Given the description of an element on the screen output the (x, y) to click on. 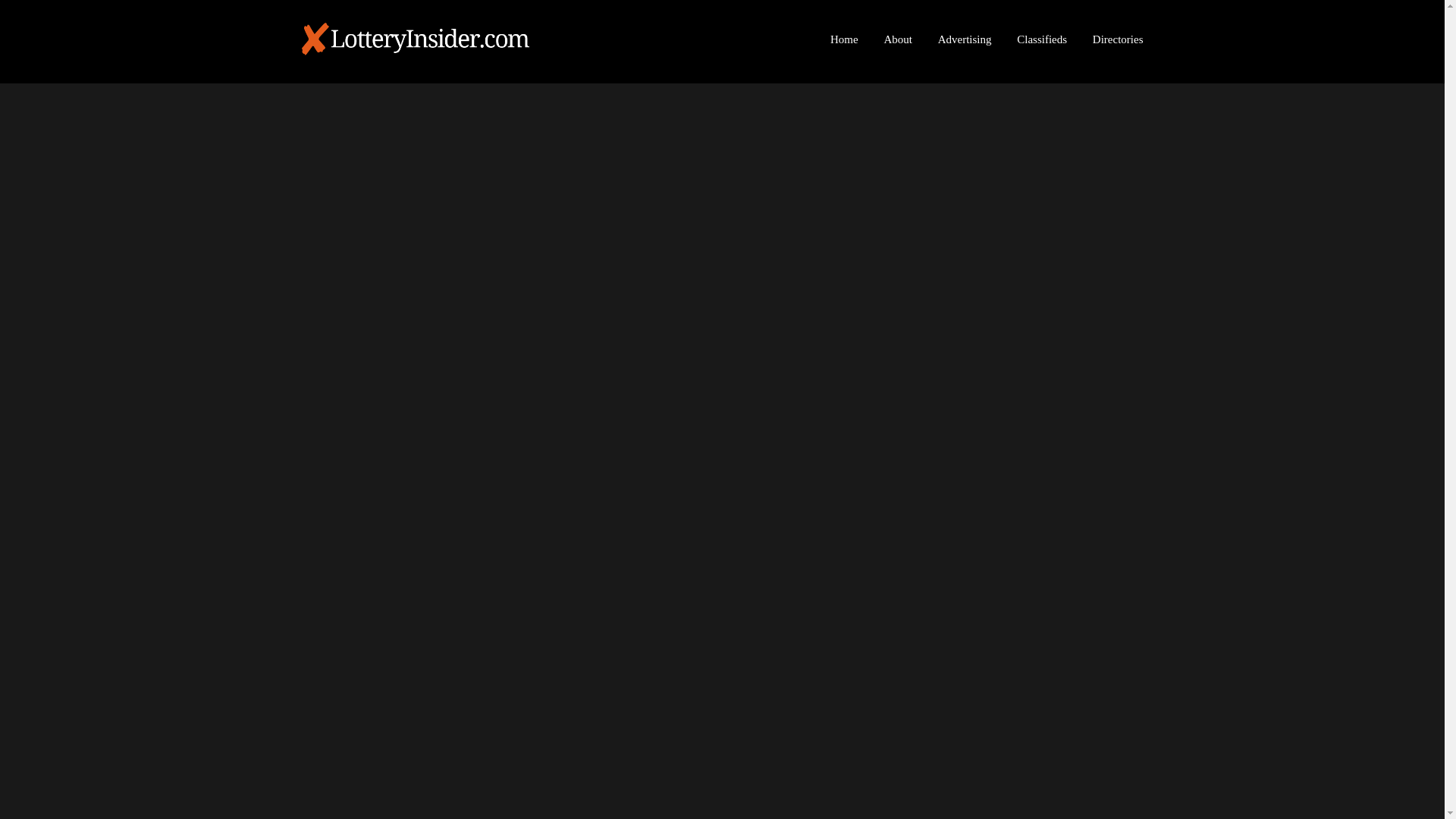
Classifieds (1042, 39)
About (897, 39)
Advertising (964, 39)
Directories (1117, 39)
Home (843, 39)
